Given the description of an element on the screen output the (x, y) to click on. 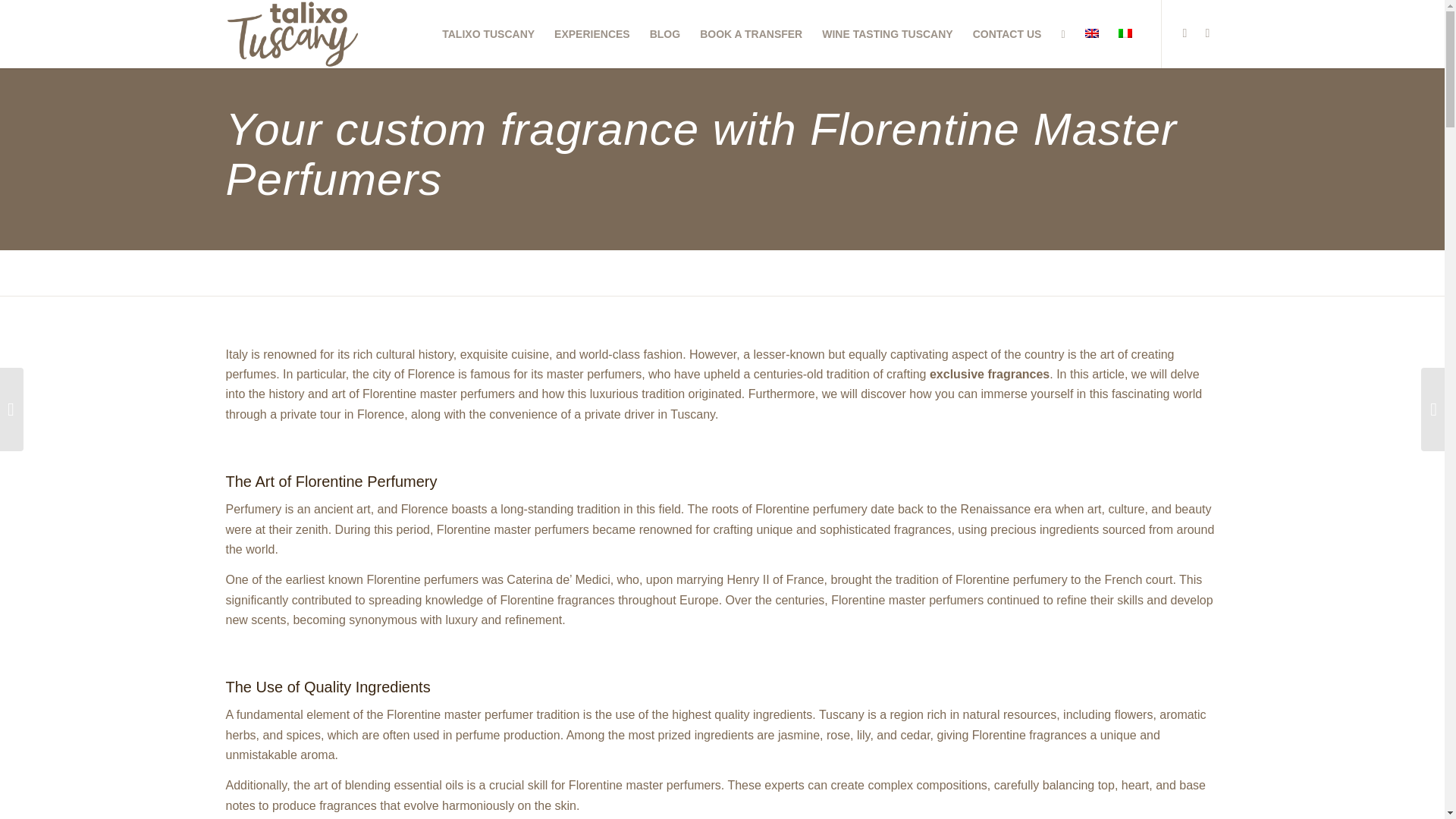
Italiano (1124, 32)
EXPERIENCES (592, 33)
Page 4 (722, 384)
Instagram (1184, 33)
TALIXO TUSCANY (488, 33)
Facebook (1208, 33)
CONTACT US (1006, 33)
BOOK A TRANSFER (751, 33)
